Given the description of an element on the screen output the (x, y) to click on. 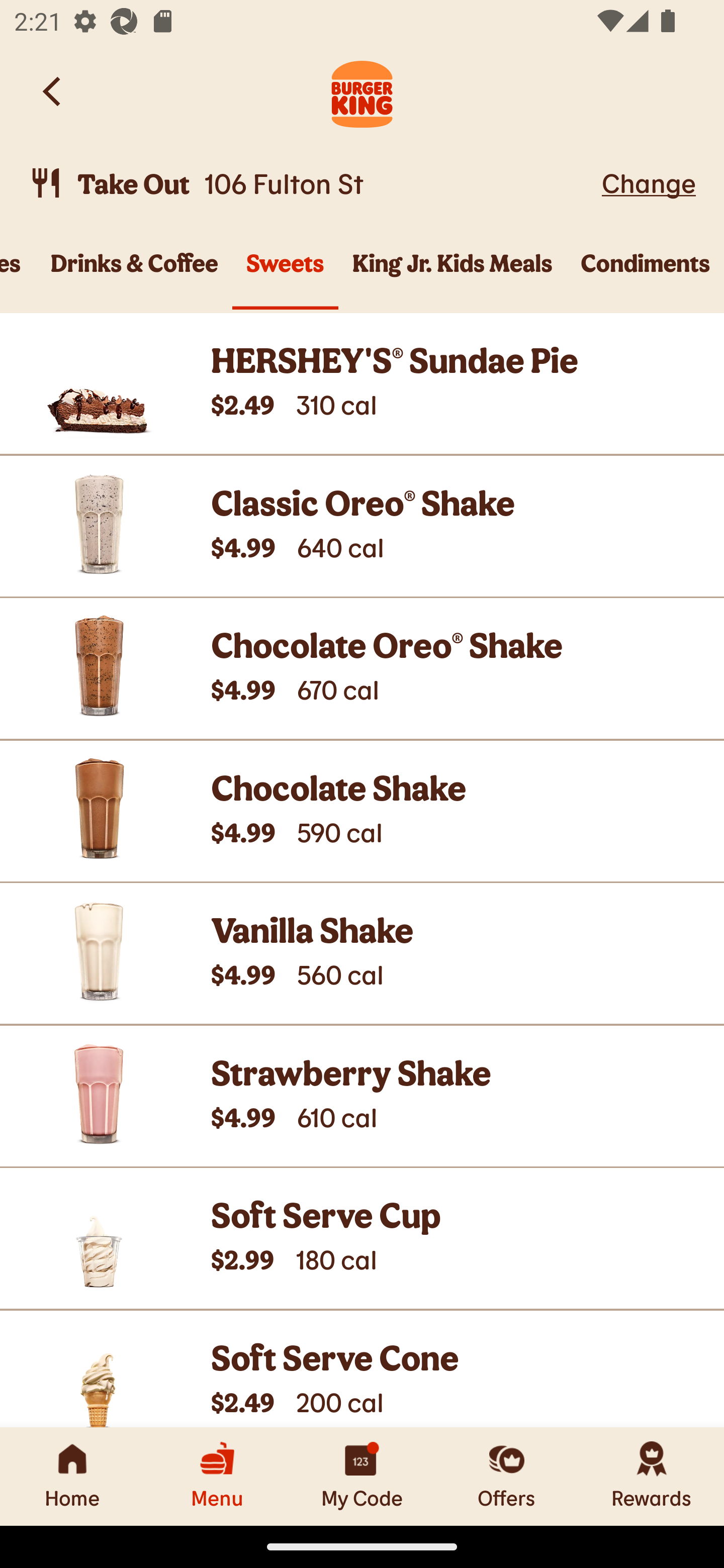
Burger King Logo. Navigate to Home (362, 91)
Back (52, 91)
Take Out, 106 Fulton St  Take Out 106 Fulton St (311, 183)
Change (648, 182)
Drinks & Coffee (134, 273)
Sweets (285, 273)
King Jr. Kids Meals (452, 273)
Condiments (645, 273)
Home (72, 1475)
Menu (216, 1475)
My Code (361, 1475)
Offers (506, 1475)
Rewards (651, 1475)
